Given the description of an element on the screen output the (x, y) to click on. 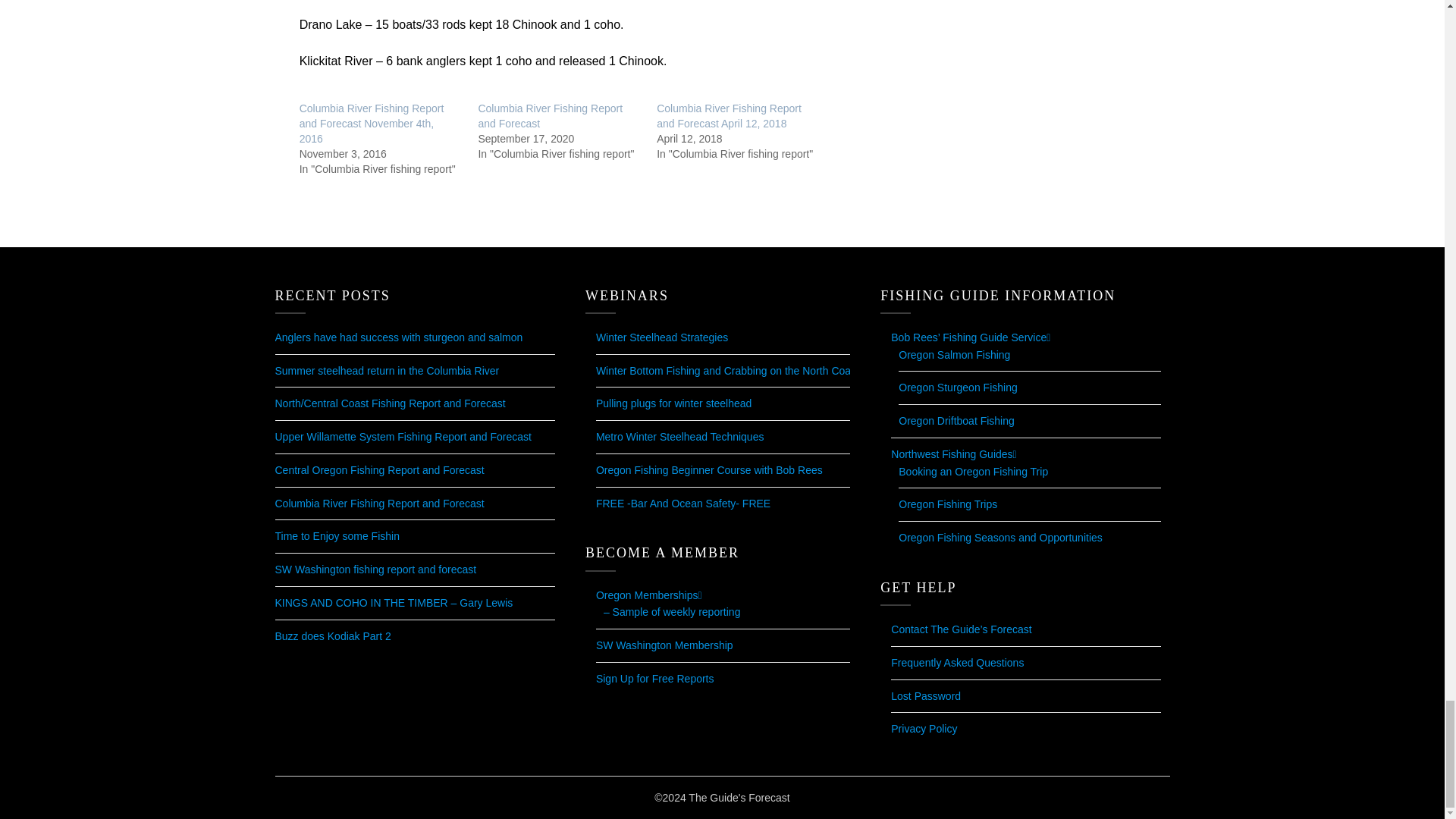
From May (672, 612)
5 webinar series for beginners (708, 469)
Columbia River Fishing Report and Forecast (550, 115)
Columbia River Fishing Report and Forecast April 12, 2018 (729, 115)
